Given the description of an element on the screen output the (x, y) to click on. 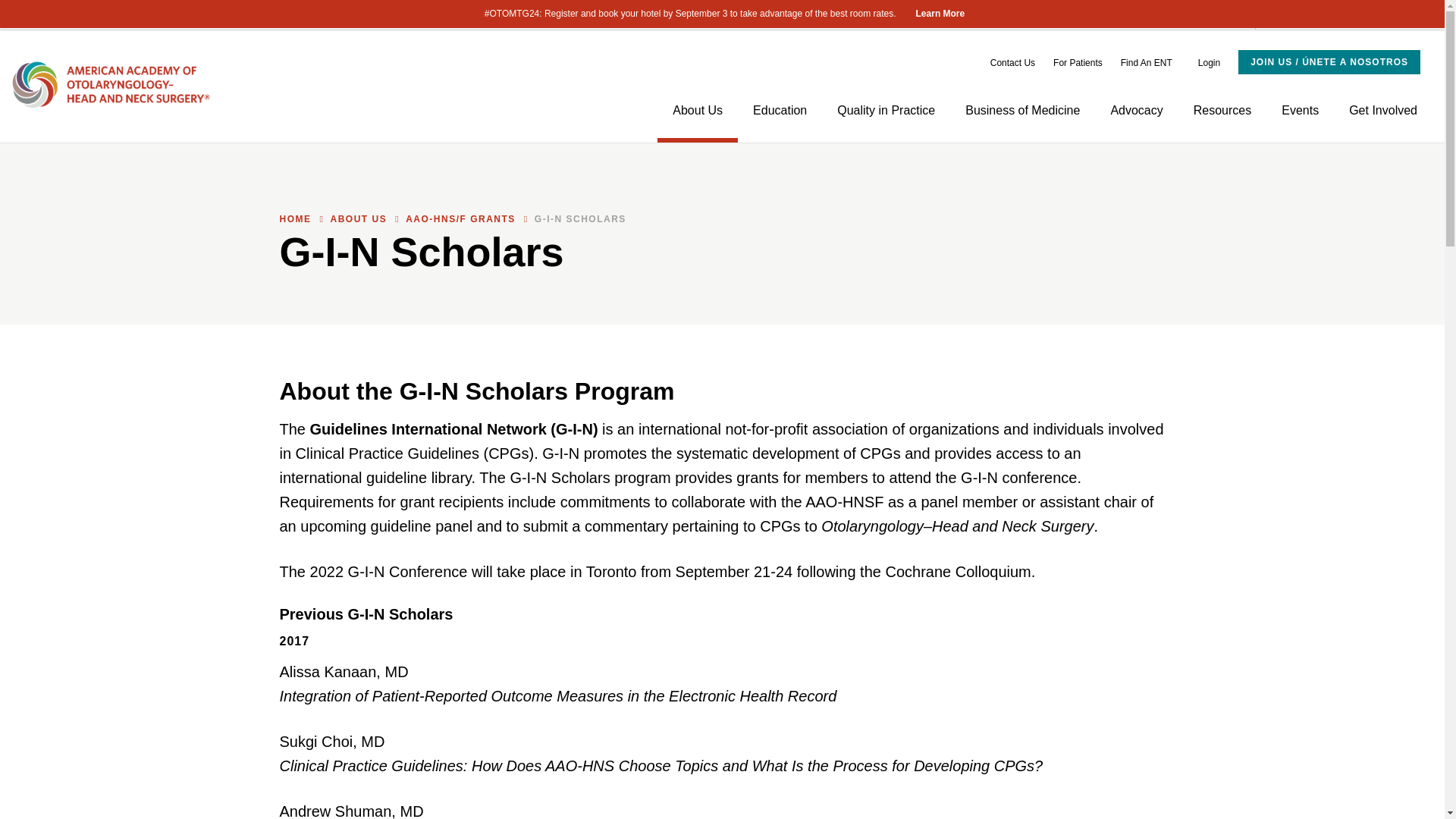
OTO OPEN (462, 15)
OTO LOGIC (391, 15)
ENT CONNECT (224, 15)
BULLETIN (148, 15)
DONATE (596, 15)
OTO JOURNAL (312, 15)
ANNUAL MEETING (63, 15)
Contact Us (1012, 62)
Login (1204, 62)
Submit site search (1270, 15)
